Given the description of an element on the screen output the (x, y) to click on. 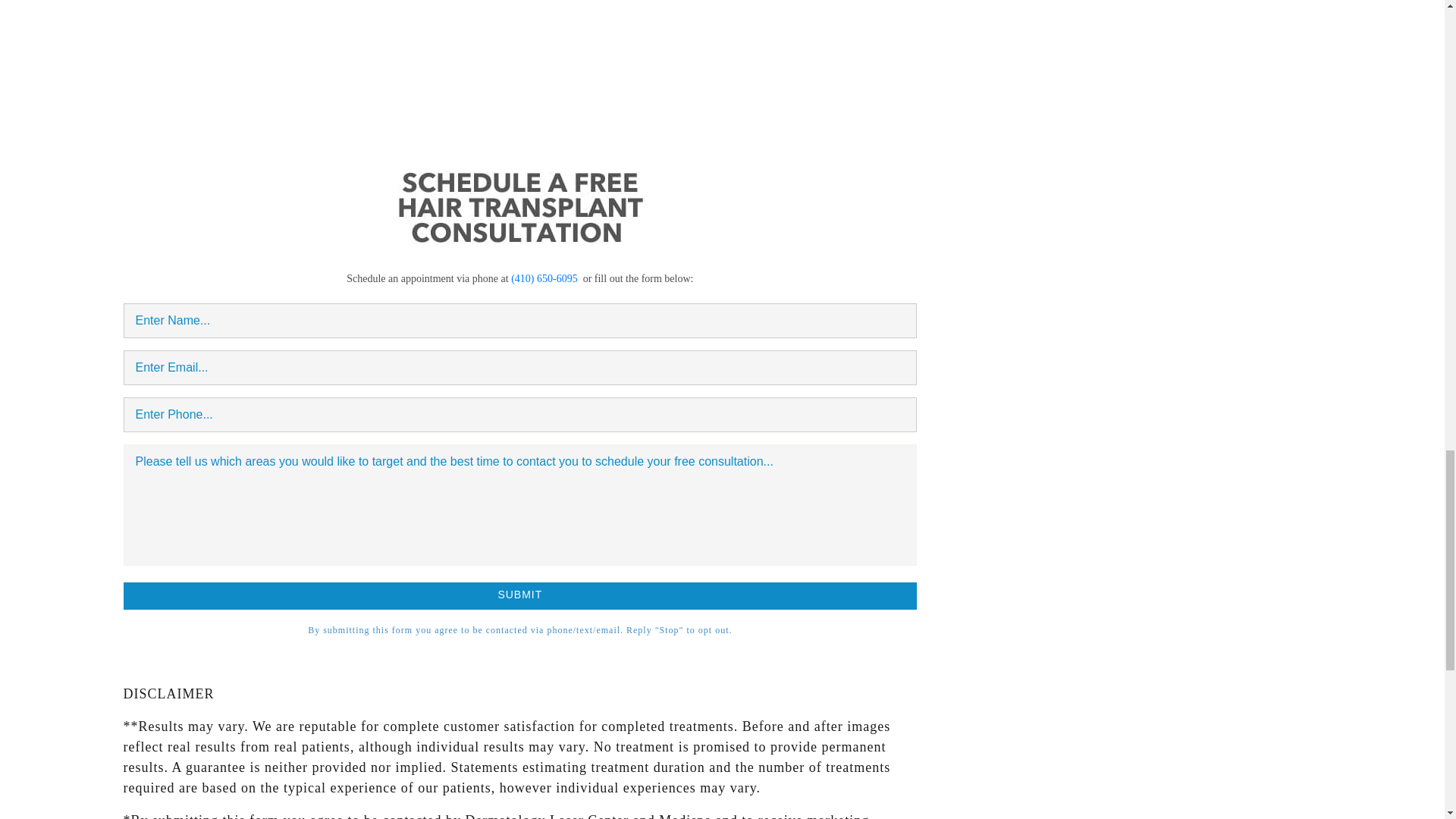
Submit (519, 595)
